Given the description of an element on the screen output the (x, y) to click on. 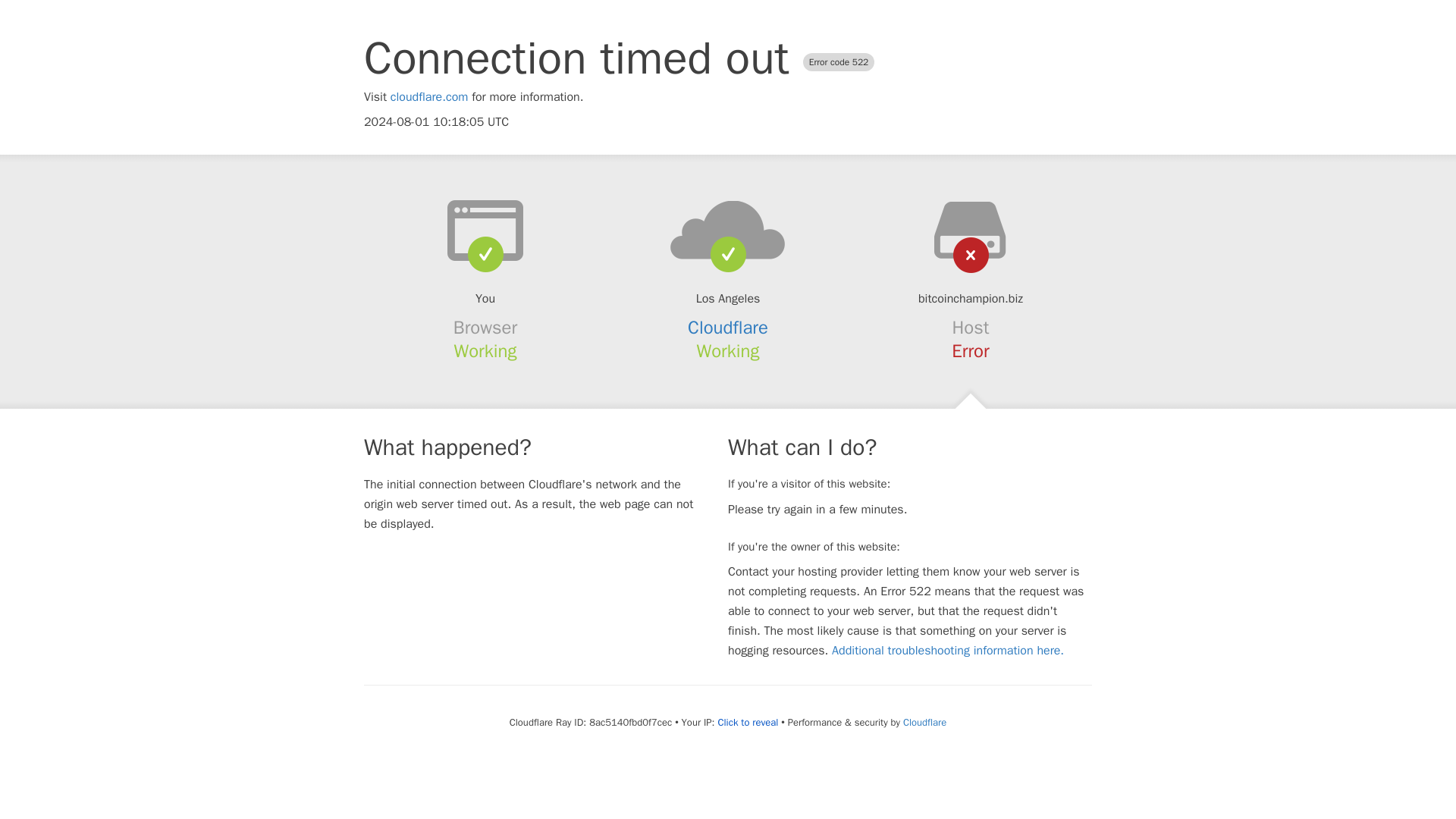
Additional troubleshooting information here. (947, 650)
cloudflare.com (429, 96)
Cloudflare (924, 721)
Click to reveal (747, 722)
Cloudflare (727, 327)
